Given the description of an element on the screen output the (x, y) to click on. 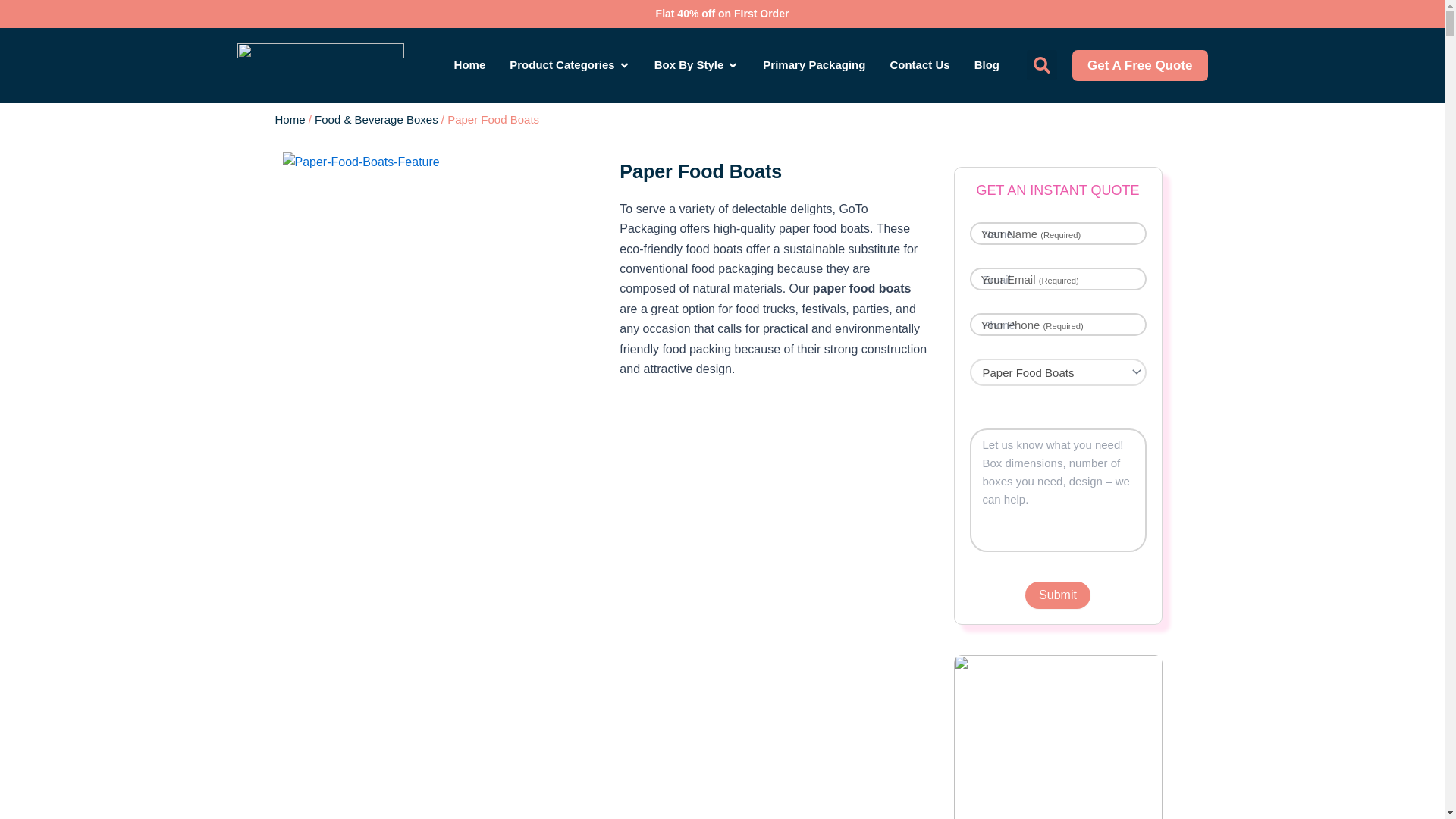
Blog (986, 65)
Home (470, 65)
Primary Packaging (813, 65)
Paper-Food-Boats-Feature (360, 161)
Contact Us (919, 65)
